Given the description of an element on the screen output the (x, y) to click on. 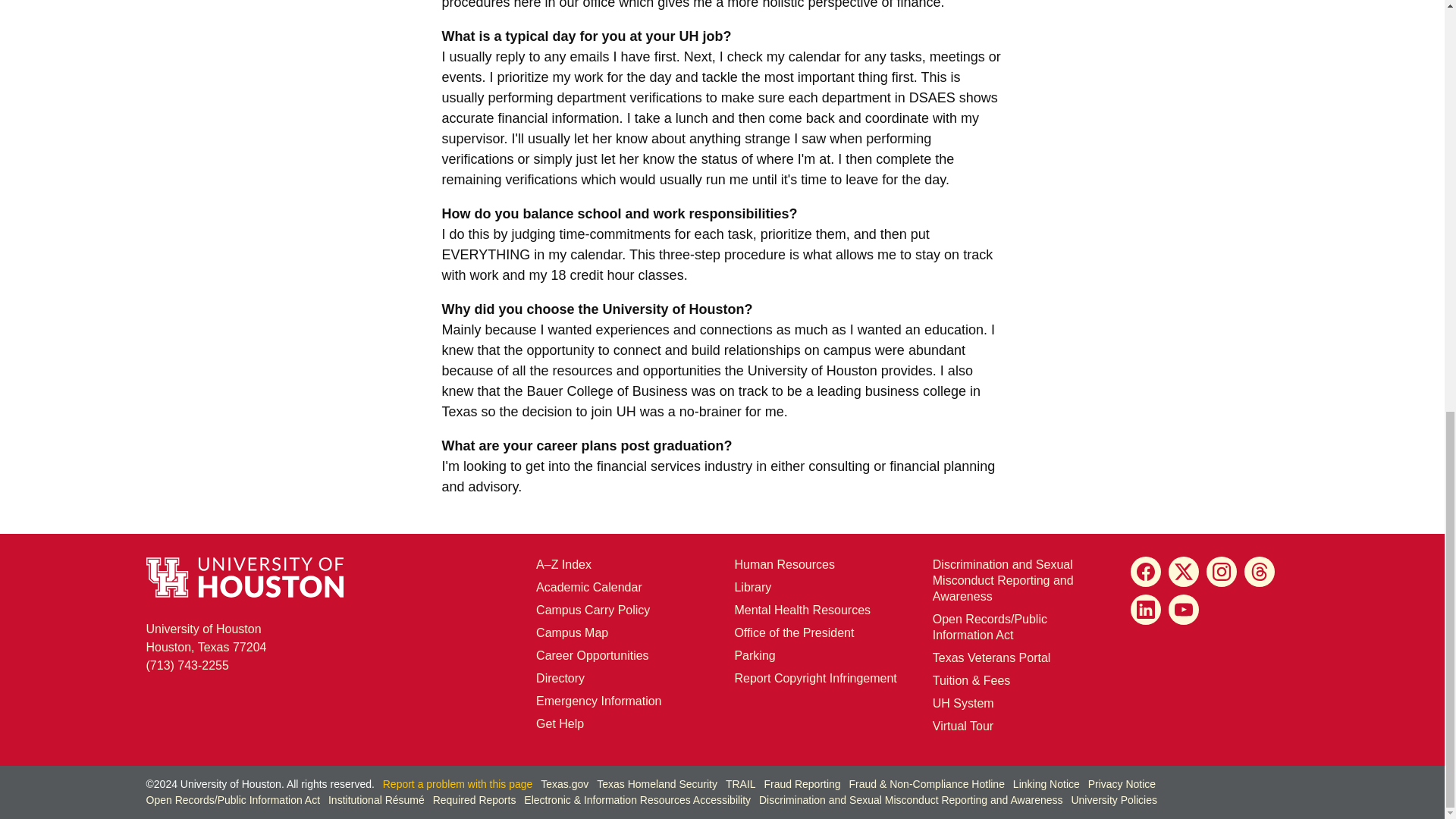
LinkedIn (1145, 609)
Instagram (1221, 571)
University of Houston (625, 411)
University of Houston (688, 36)
YouTube (1183, 609)
X (1183, 571)
University of Houston (941, 703)
Facebook (1145, 571)
